Given the description of an element on the screen output the (x, y) to click on. 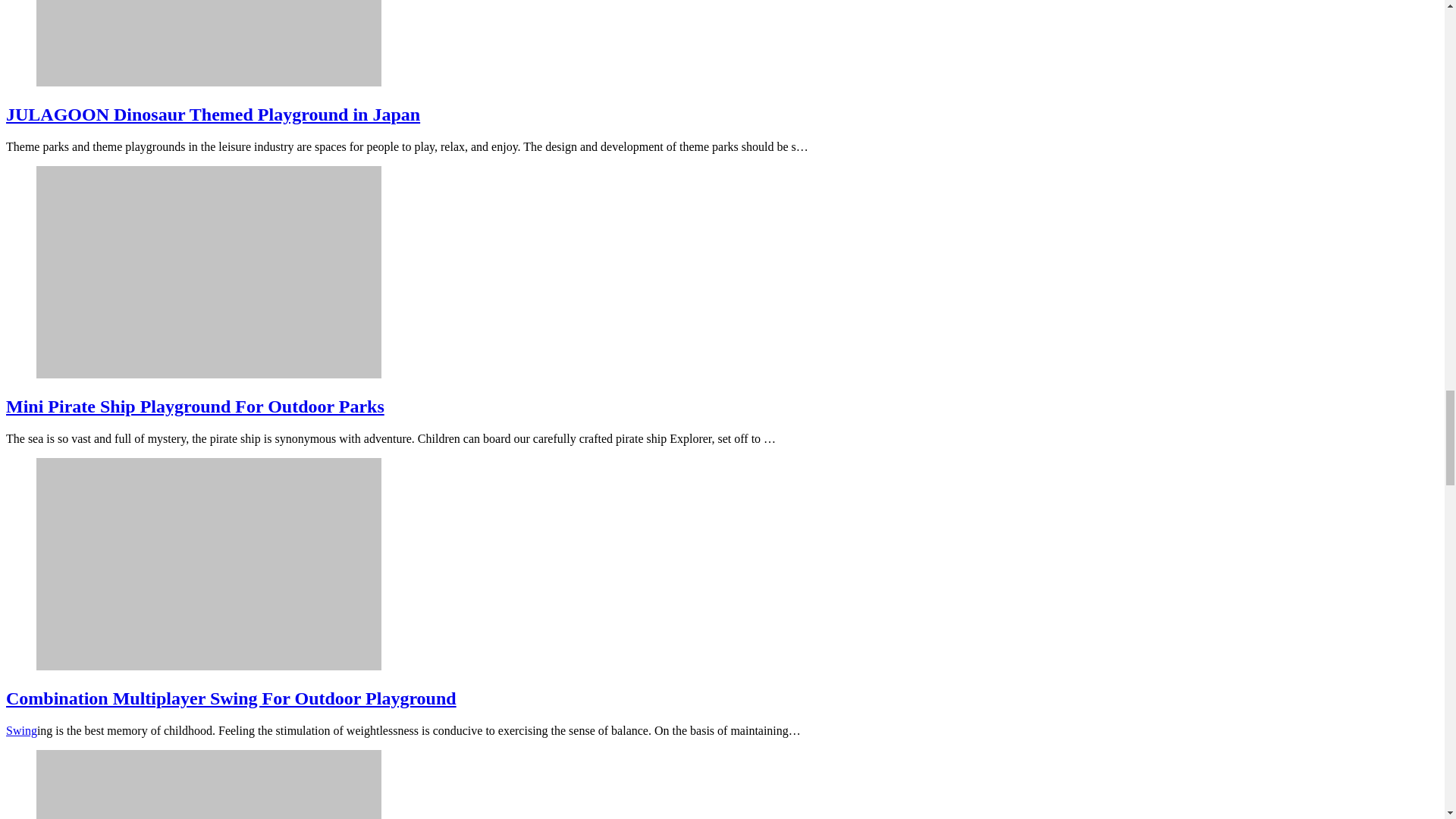
Mini Pirate Ship Playground For Outdoor Parks (208, 373)
Combination Multiplayer Swing For Outdoor Playground (208, 666)
JULAGOON Dinosaur Themed Playground in Japan (208, 82)
